Given the description of an element on the screen output the (x, y) to click on. 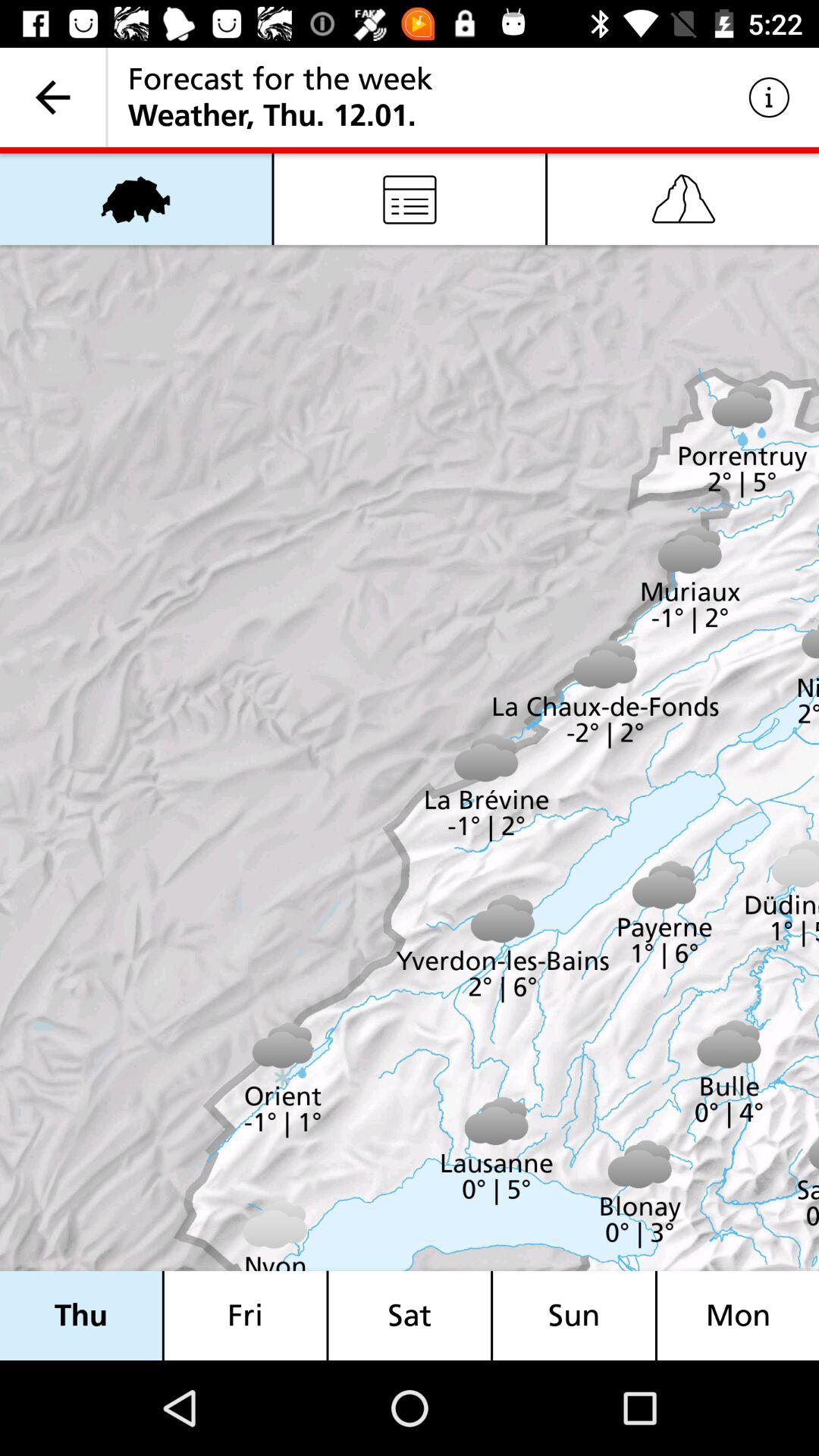
launch the sun (574, 1315)
